Given the description of an element on the screen output the (x, y) to click on. 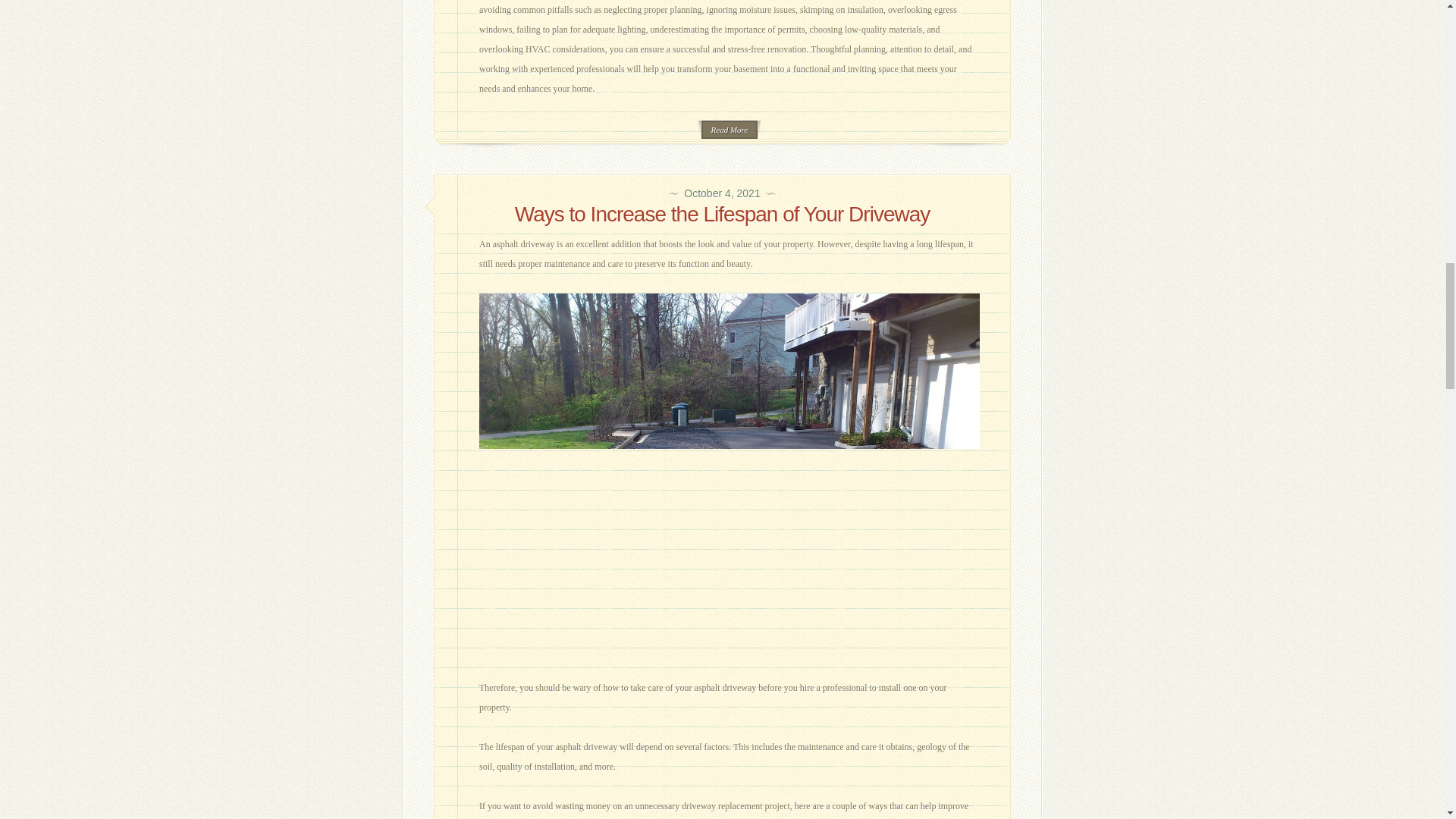
Read More (729, 128)
Ways to Increase the Lifespan of Your Driveway (722, 214)
